Given the description of an element on the screen output the (x, y) to click on. 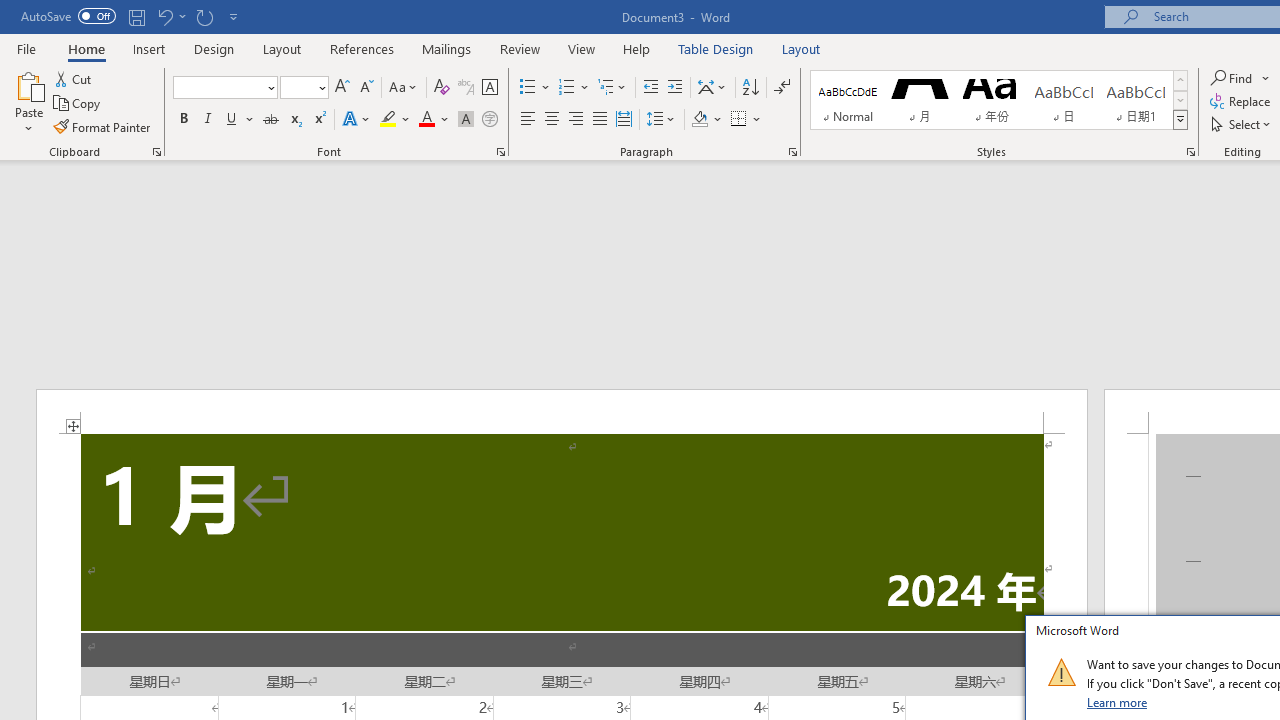
Font Size (304, 87)
Phonetic Guide... (465, 87)
Bullets (535, 87)
Styles... (1190, 151)
Align Left (527, 119)
Styles (1179, 120)
Learn more (1118, 702)
Format Painter (103, 126)
Save (136, 15)
Sort... (750, 87)
Numbering (573, 87)
Clear Formatting (442, 87)
Font... (500, 151)
